Given the description of an element on the screen output the (x, y) to click on. 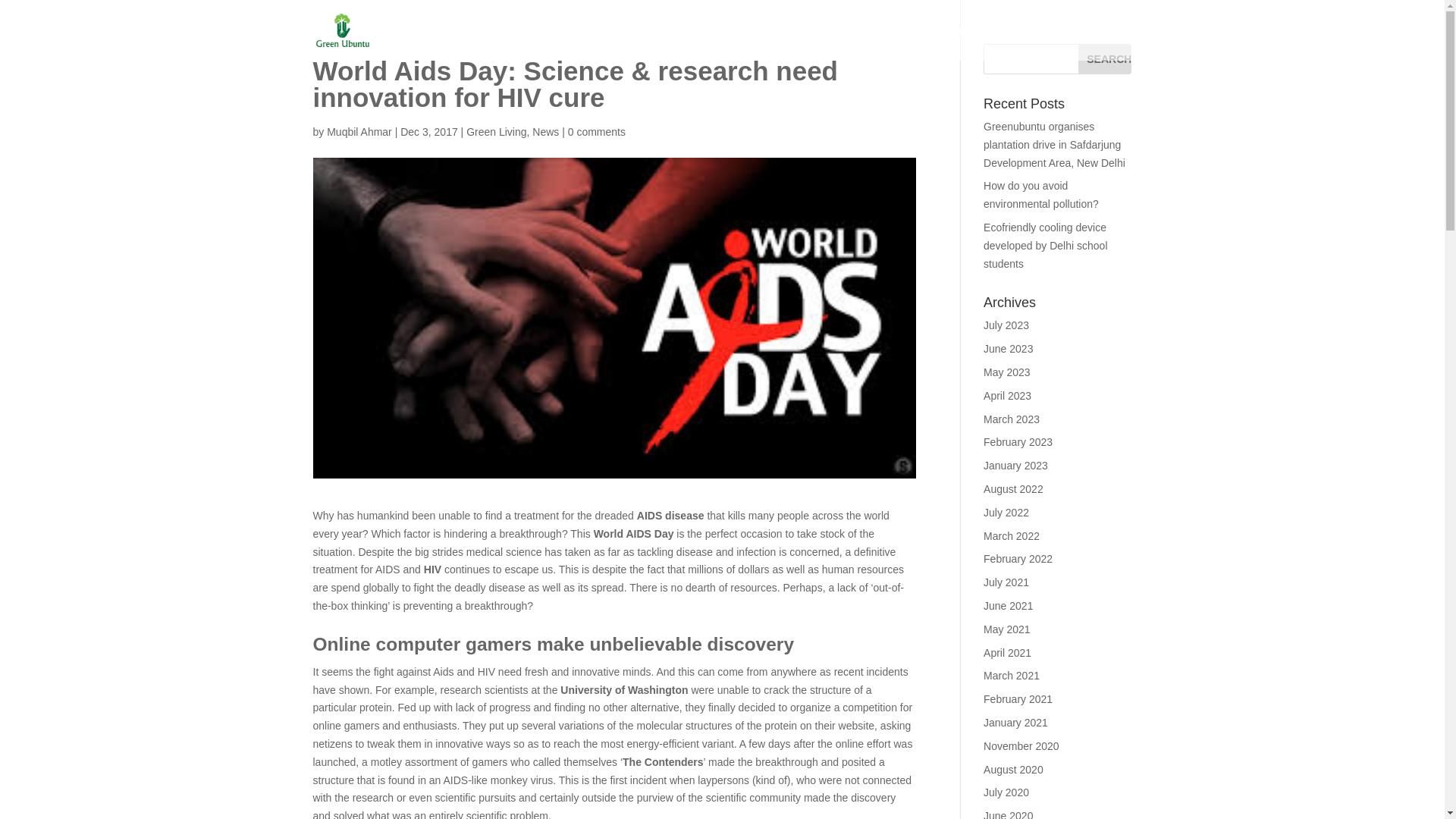
Sustainable Tech (819, 42)
Plantations (967, 42)
Parenting (606, 42)
Green Living (495, 132)
Eco Fashion (530, 42)
Posts by Muqbil Ahmar (358, 132)
News (545, 132)
0 comments (596, 132)
Green Living (1048, 42)
Muqbil Ahmar (358, 132)
